Given the description of an element on the screen output the (x, y) to click on. 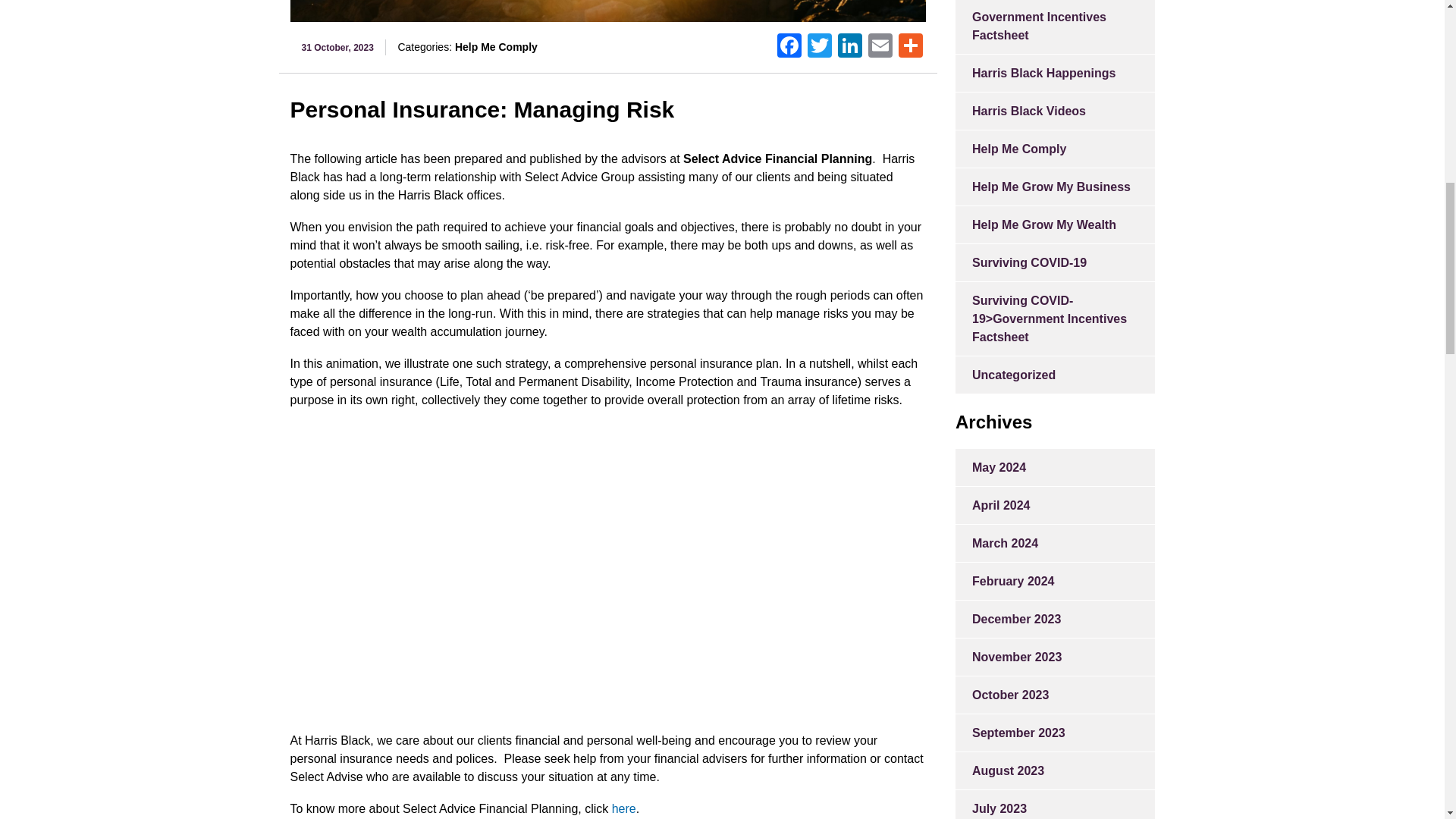
Email (879, 47)
here (623, 808)
Twitter (819, 47)
Email (879, 47)
Personal insurances: Managing risk (531, 577)
LinkedIn (849, 47)
LinkedIn (849, 47)
Facebook (789, 47)
Facebook (789, 47)
Twitter (819, 47)
